Given the description of an element on the screen output the (x, y) to click on. 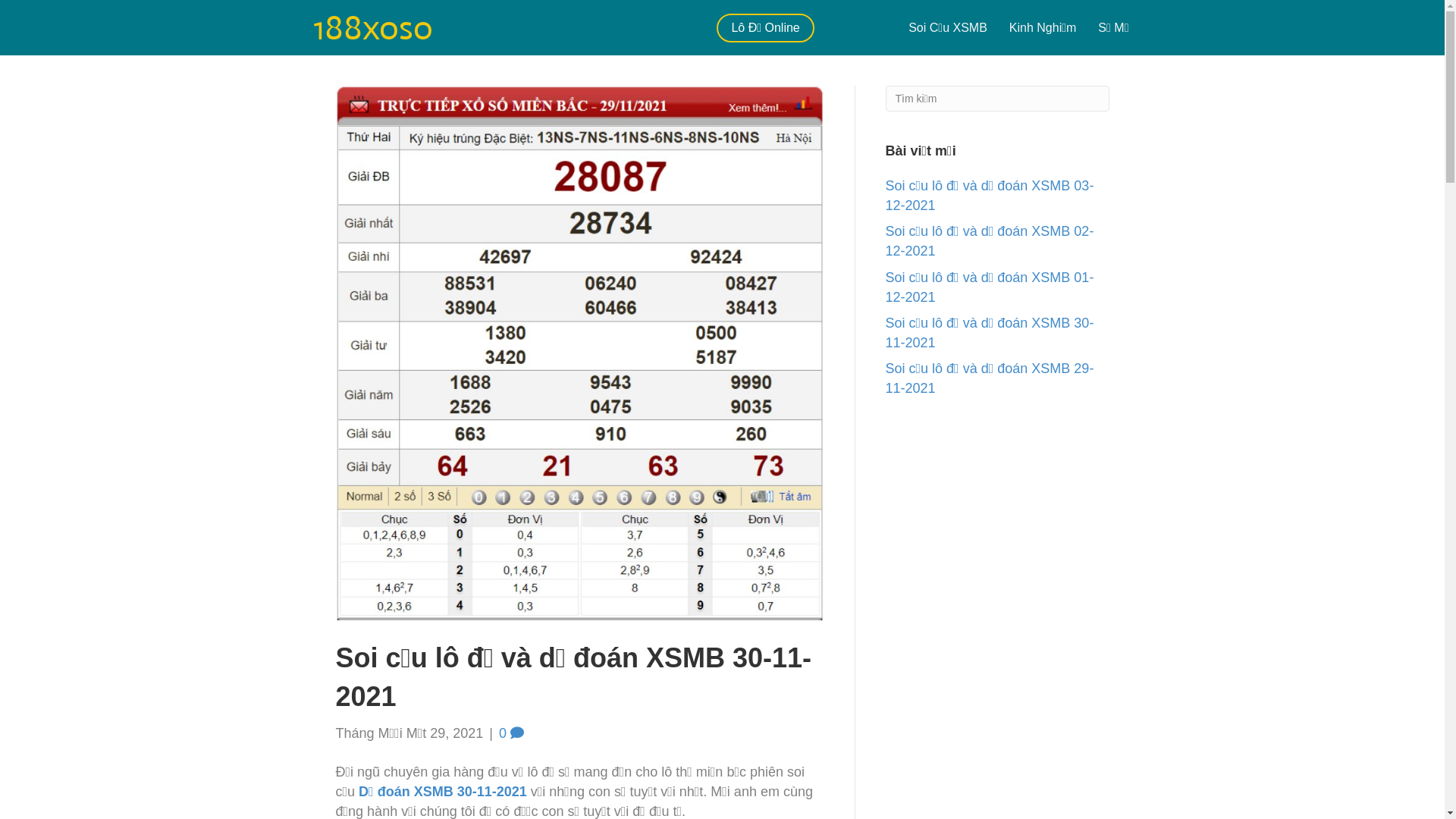
0 Element type: text (511, 732)
188xoso Element type: text (372, 27)
